Given the description of an element on the screen output the (x, y) to click on. 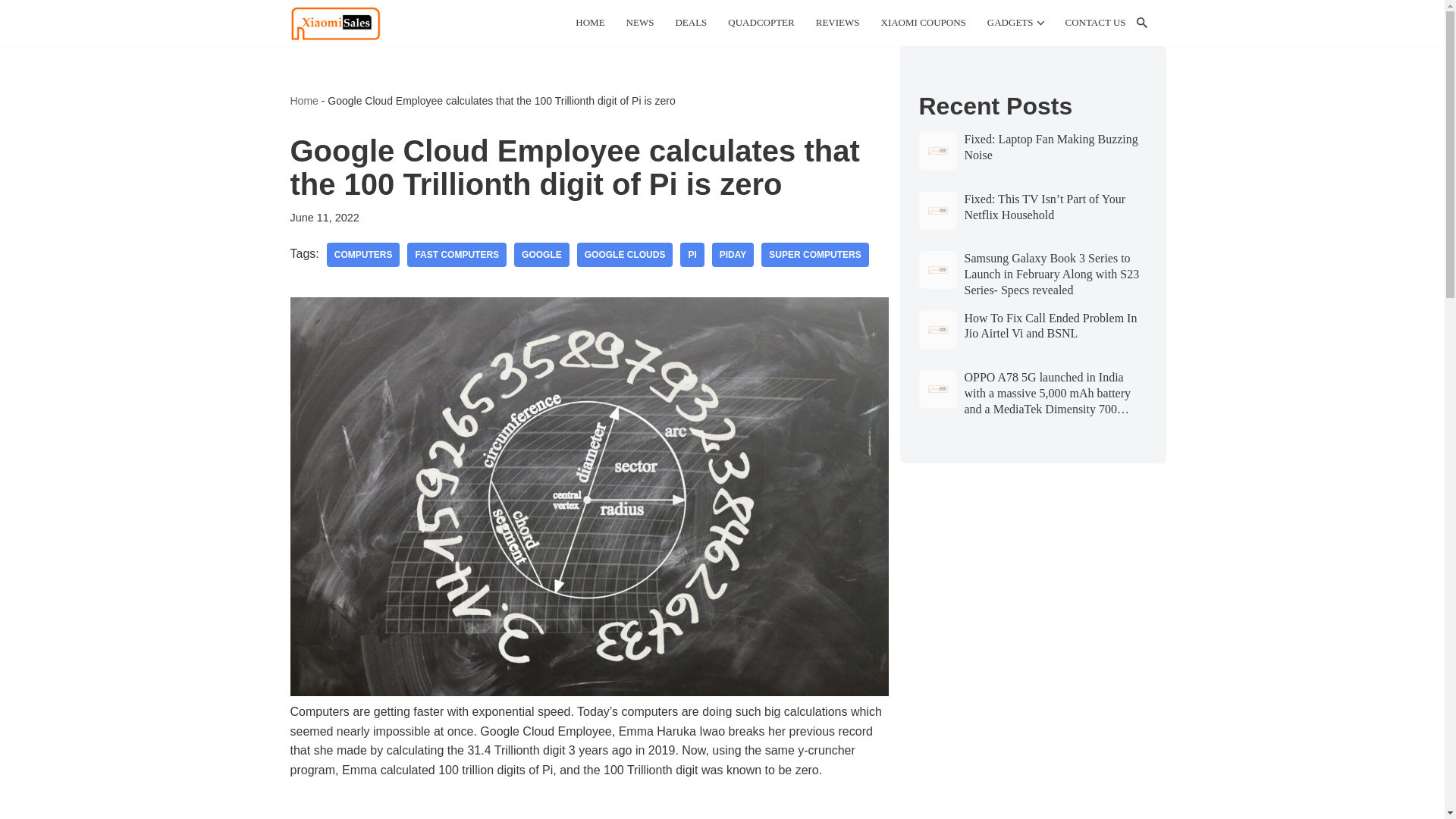
DEALS (690, 22)
XIAOMI COUPONS (923, 22)
Skip to content (11, 31)
GADGETS (1010, 22)
REVIEWS (837, 22)
COMPUTERS (363, 254)
NEWS (639, 22)
PIDAY (732, 254)
Google clouds (624, 254)
GOOGLE CLOUDS (624, 254)
PI (691, 254)
fast computers (456, 254)
FAST COMPUTERS (456, 254)
GOOGLE (541, 254)
